Given the description of an element on the screen output the (x, y) to click on. 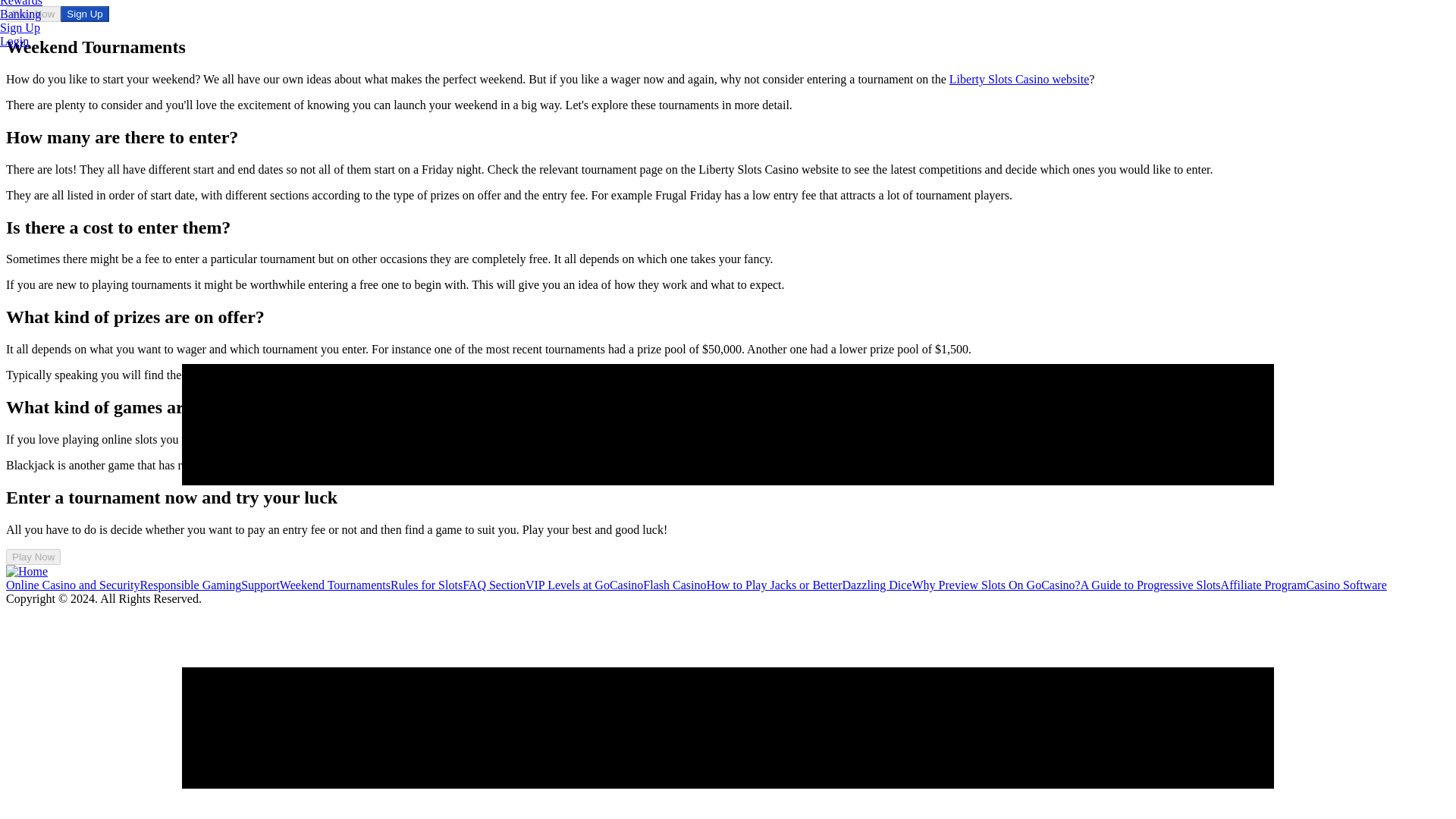
How to Play Jacks or Better (773, 584)
Dazzling Dice (877, 584)
Why Preview Slots On GoCasino? (995, 584)
Responsible Gaming (190, 584)
Support (260, 584)
Rules for Slots (426, 584)
Online Casino and Security (72, 584)
Affiliate Program (1263, 584)
Flash Casino (674, 584)
VIP Levels at GoCasino (584, 584)
